Given the description of an element on the screen output the (x, y) to click on. 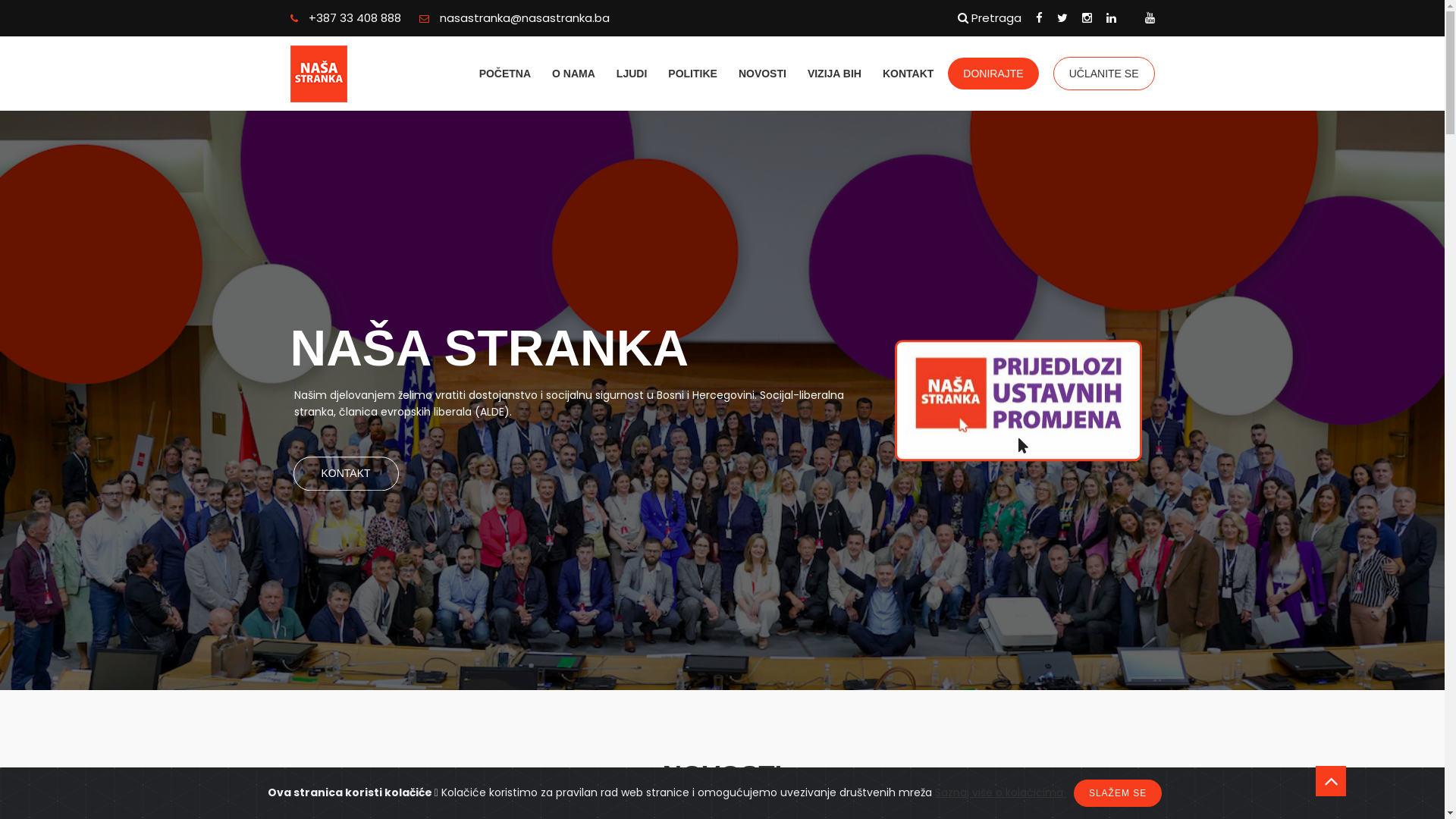
Youtube Element type: hover (1149, 18)
NOVOSTI Element type: text (762, 73)
Pretraga Element type: text (988, 18)
VIZIJA BIH Element type: text (834, 73)
Facebook Element type: hover (1038, 18)
POLITIKE Element type: text (692, 73)
nasastranka@nasastranka.ba Element type: text (513, 18)
+387 33 408 888 Element type: text (344, 18)
O NAMA Element type: text (573, 73)
DONIRAJTE Element type: text (992, 73)
Twitter Element type: hover (1062, 18)
LinkedIn Element type: hover (1110, 18)
KONTAKT Element type: text (345, 473)
Logo Element type: hover (351, 73)
LJUDI Element type: text (631, 73)
KONTAKT Element type: text (907, 73)
Instagram Element type: hover (1086, 18)
